Given the description of an element on the screen output the (x, y) to click on. 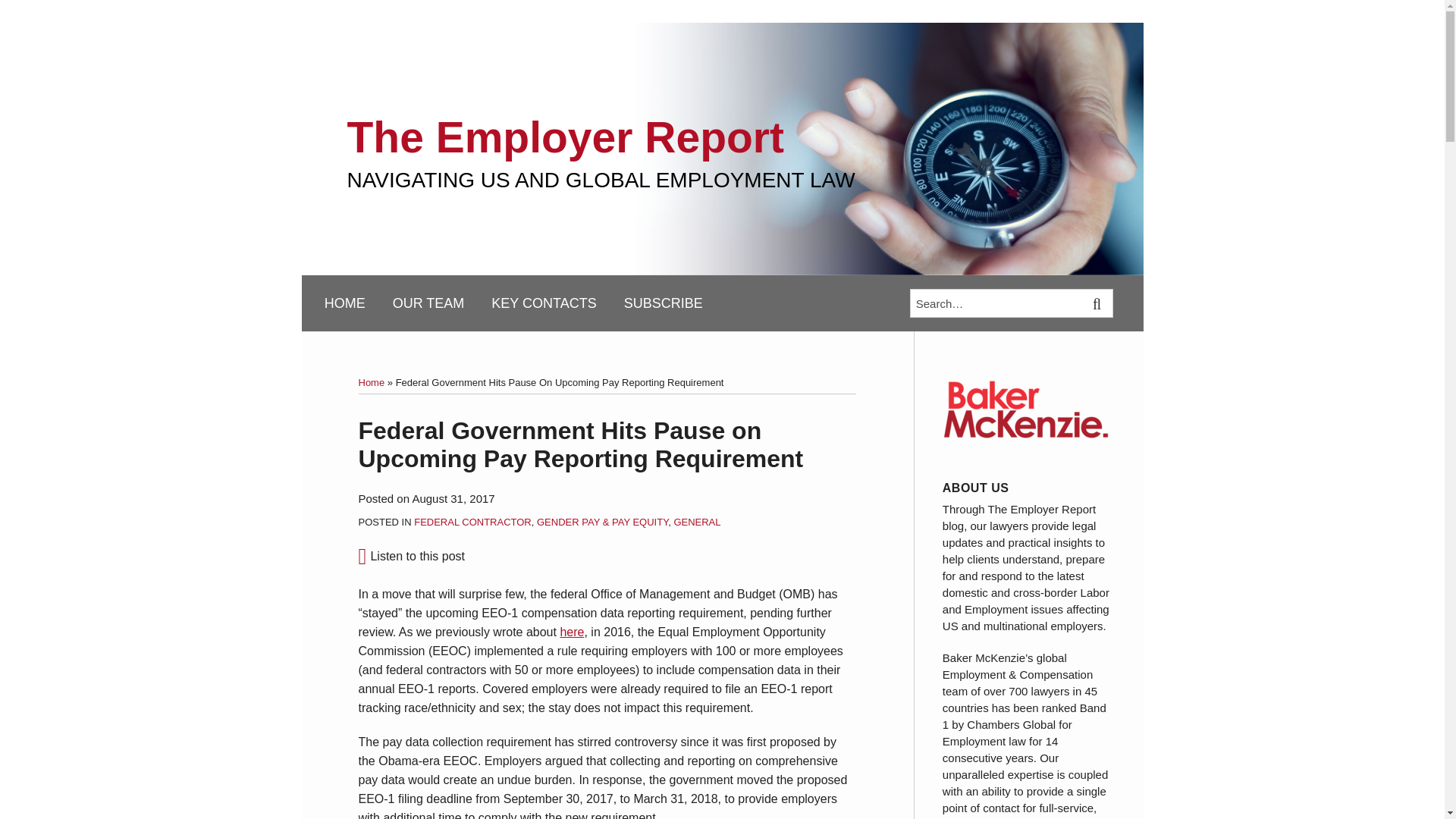
here (571, 631)
HOME (344, 303)
GENERAL (696, 521)
OUR TEAM (428, 303)
FEDERAL CONTRACTOR (472, 521)
Home (371, 382)
KEY CONTACTS (543, 303)
SUBSCRIBE (663, 303)
SEARCH (1098, 302)
The Employer Report (565, 137)
